Given the description of an element on the screen output the (x, y) to click on. 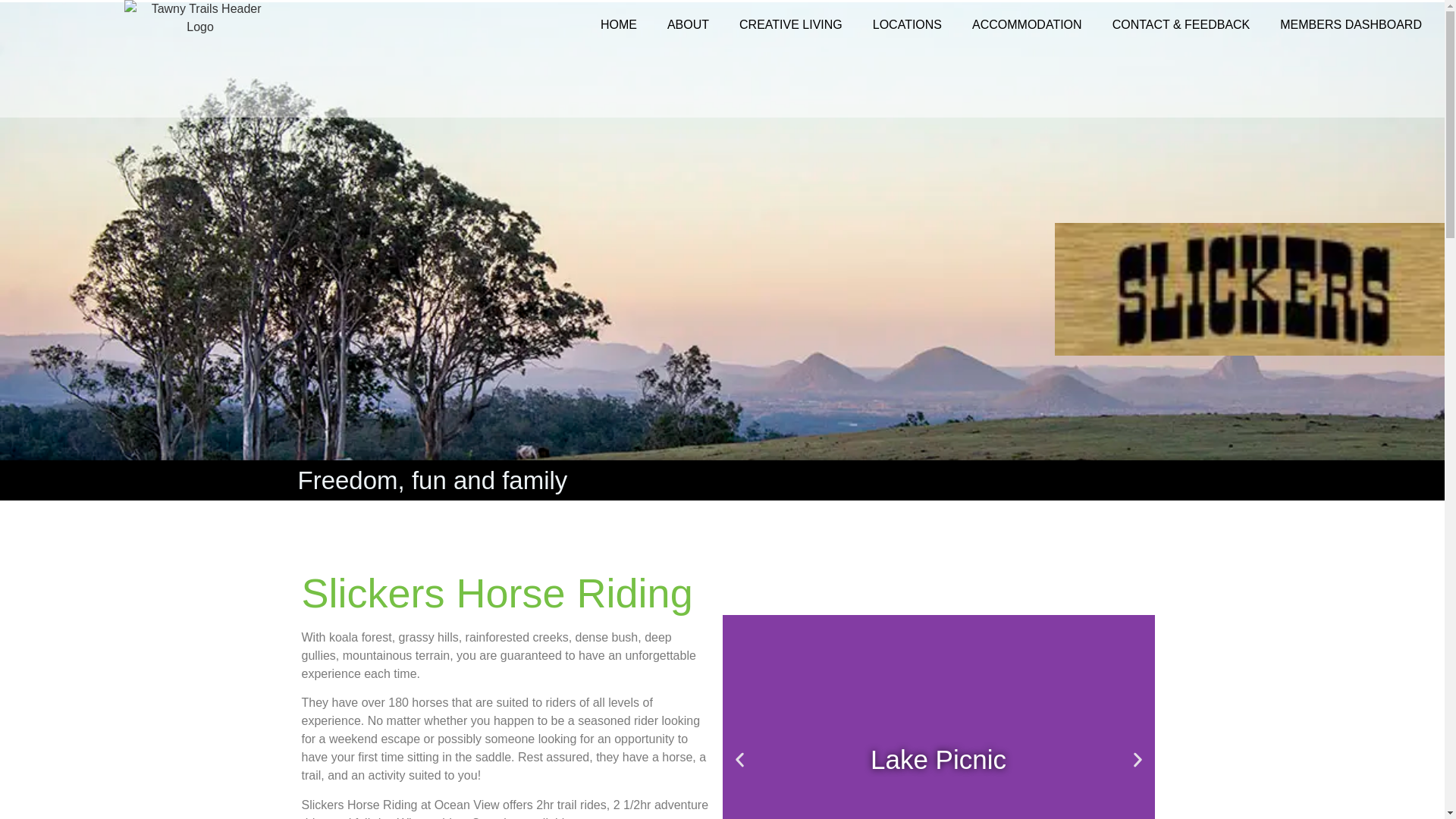
ACCOMMODATION (1026, 24)
CREATIVE LIVING (790, 24)
Tawny Trails Header Logo (199, 58)
HOME (618, 24)
LOCATIONS (906, 24)
ABOUT (687, 24)
MEMBERS DASHBOARD (1351, 24)
